Given the description of an element on the screen output the (x, y) to click on. 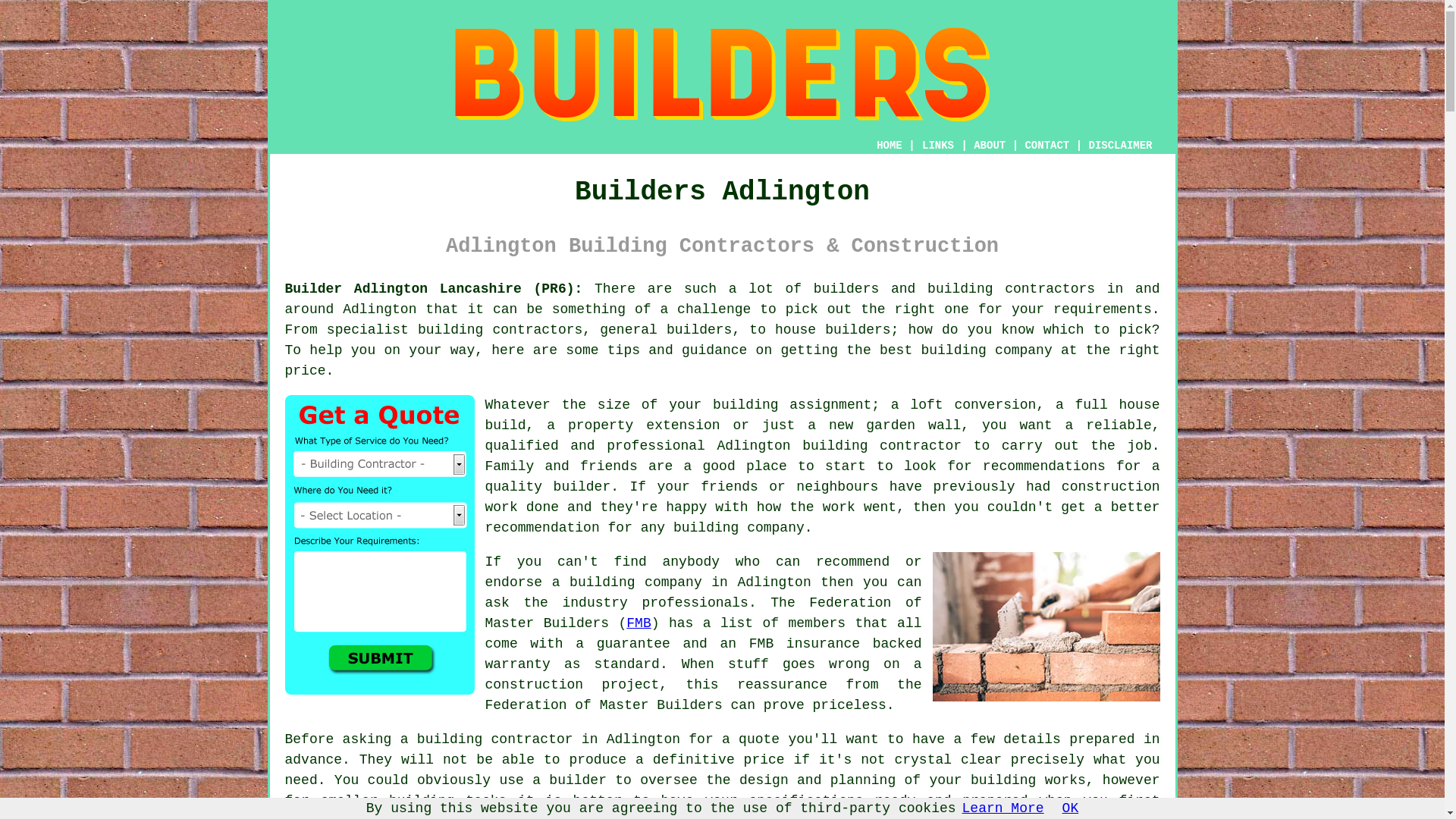
HOME (889, 145)
Builders Adlington (721, 74)
LINKS (938, 145)
